Given the description of an element on the screen output the (x, y) to click on. 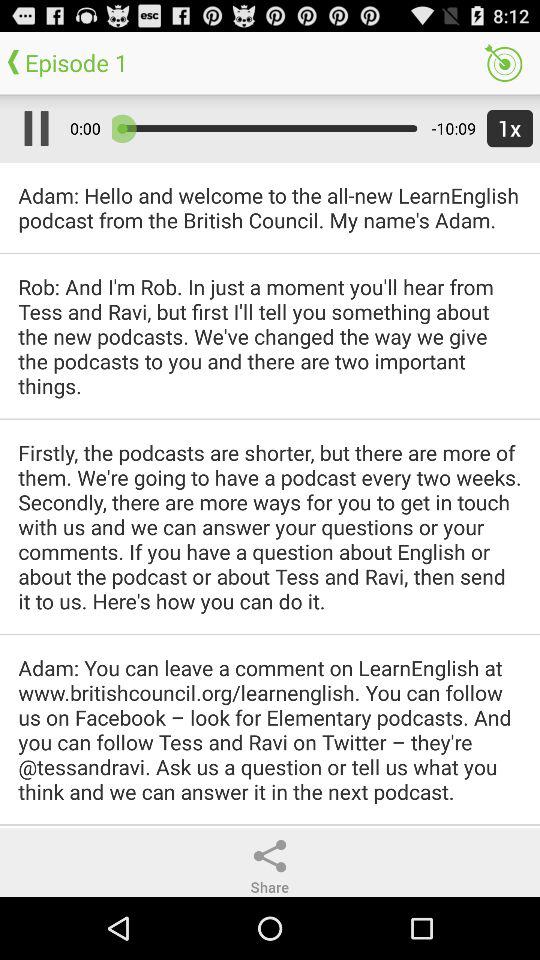
open the item to the right of the episode 1 (503, 62)
